Given the description of an element on the screen output the (x, y) to click on. 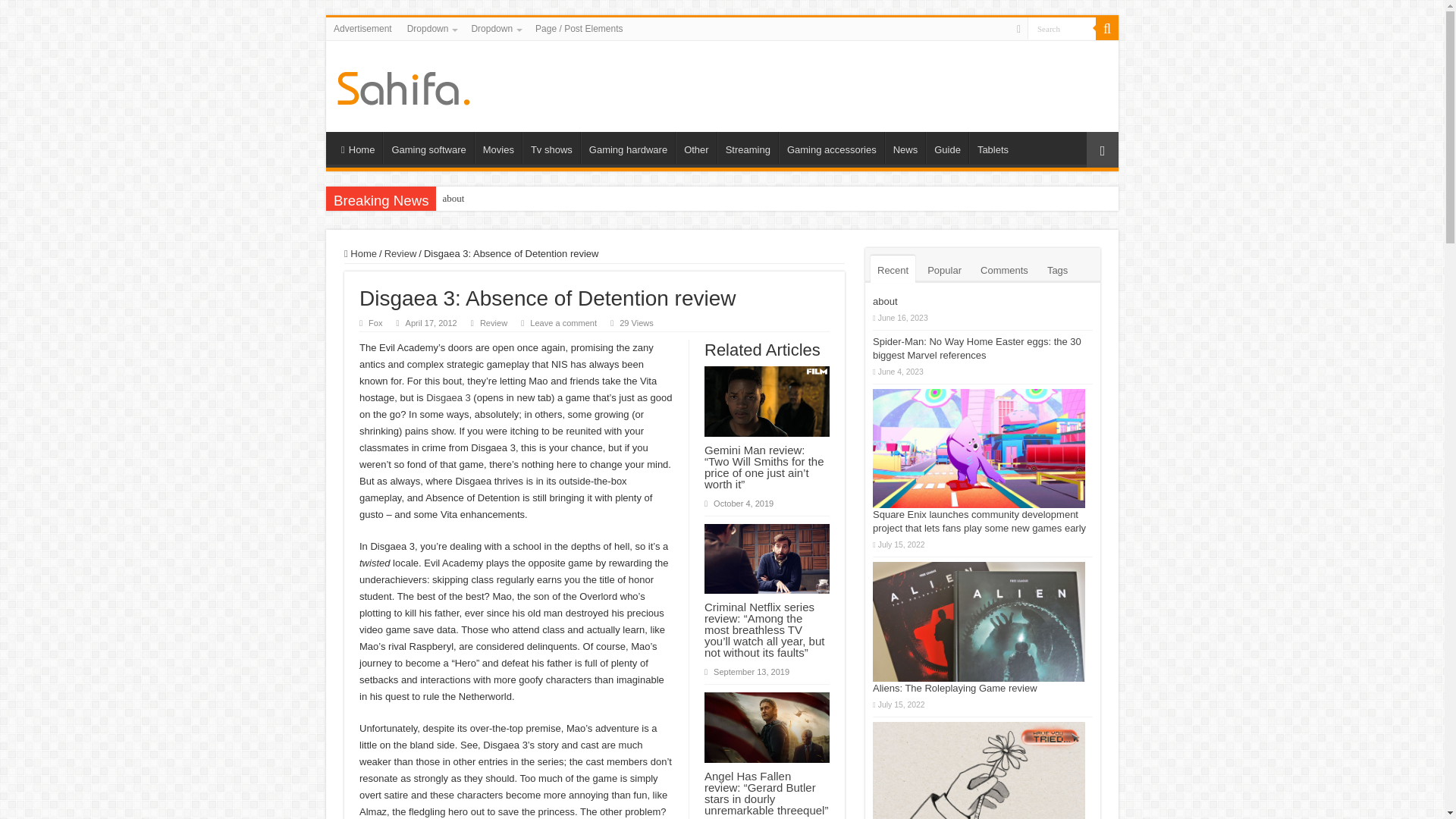
Other (695, 147)
Movies (497, 147)
Gaming software (427, 147)
Dropdown (431, 28)
Streaming (747, 147)
about (452, 198)
Search (1061, 28)
Dropdown (495, 28)
Search (1107, 28)
Home (357, 147)
